Given the description of an element on the screen output the (x, y) to click on. 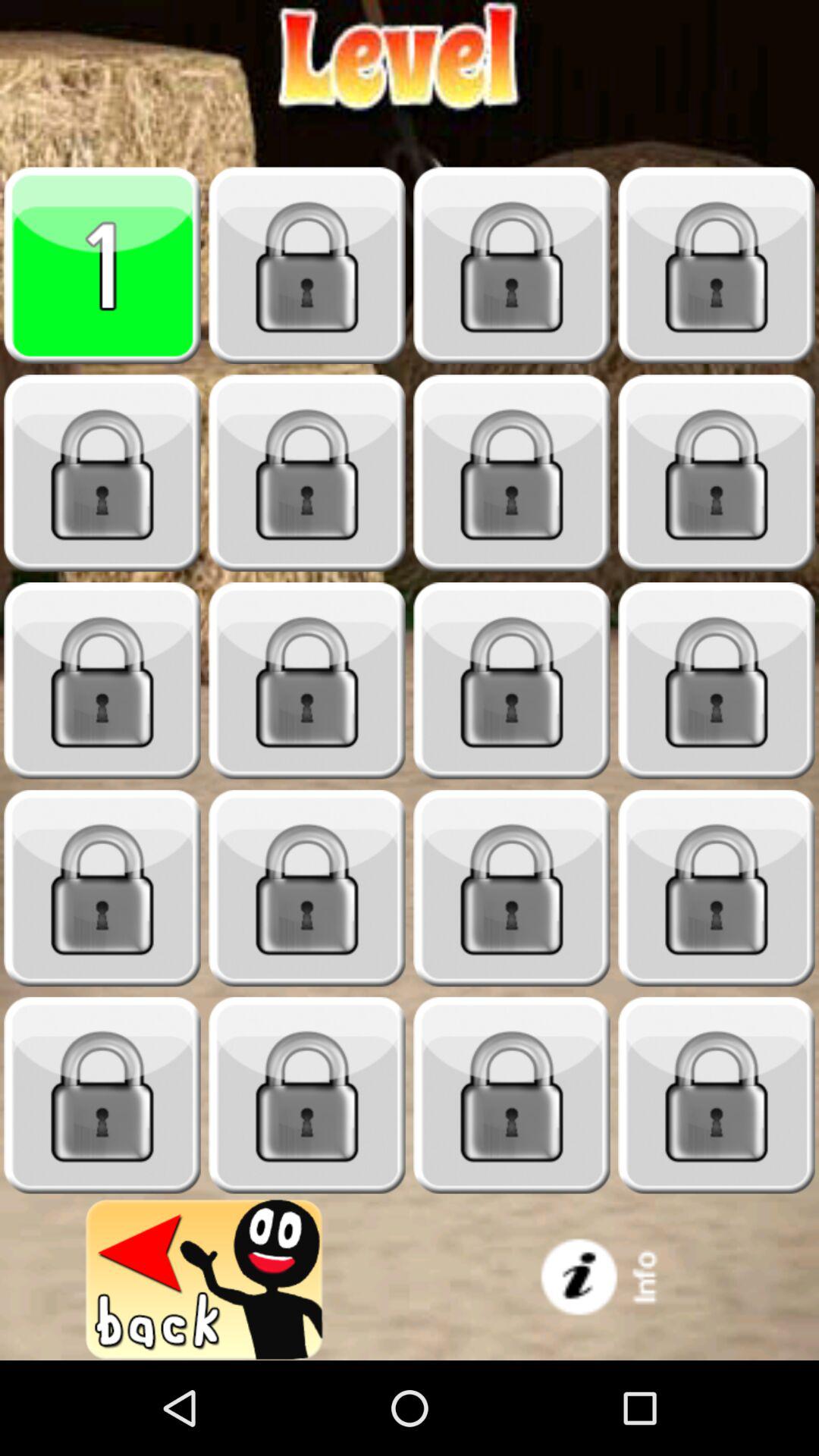
locked game level (102, 680)
